Given the description of an element on the screen output the (x, y) to click on. 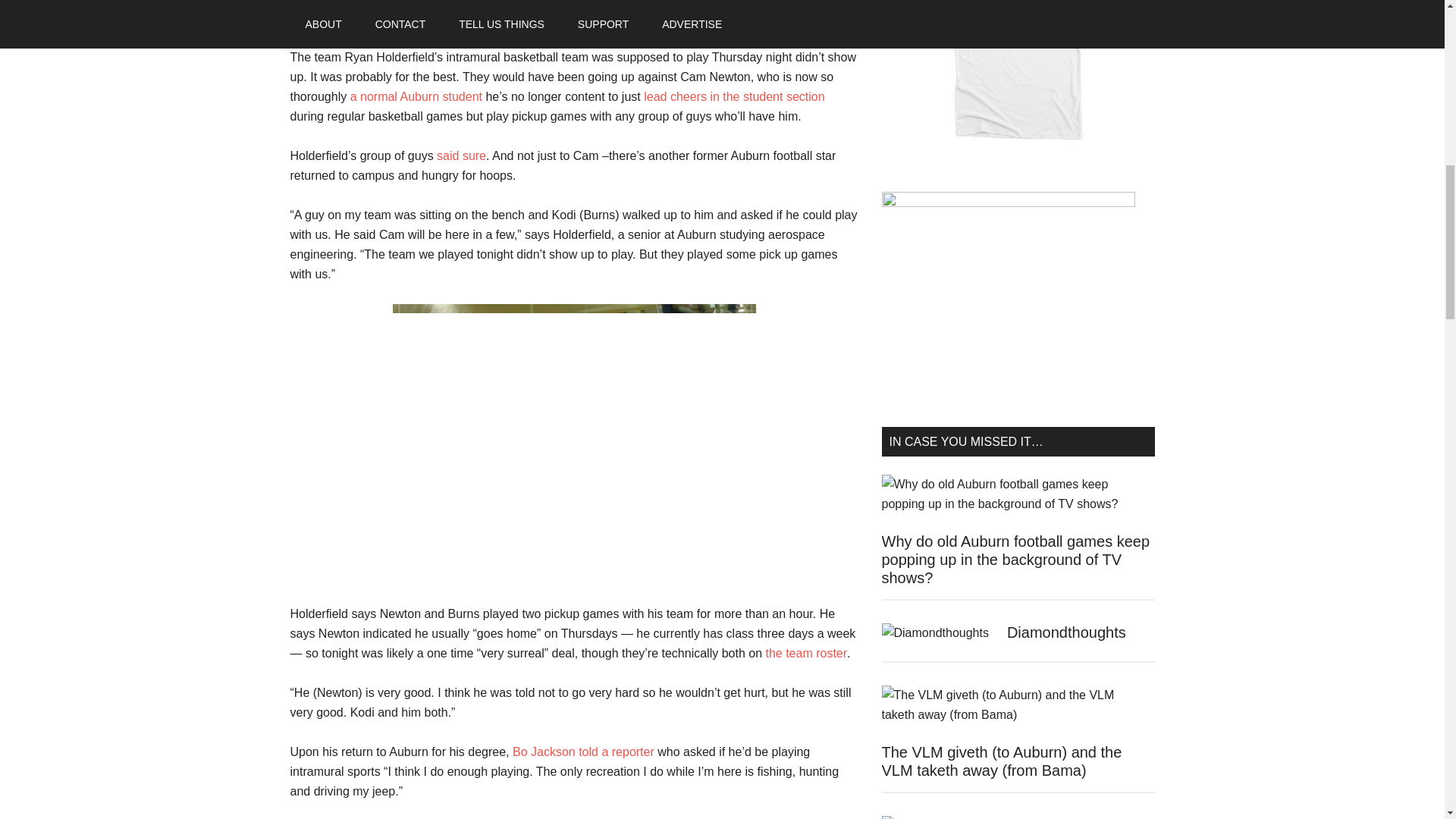
lead cheers in the student section (733, 96)
a normal Auburn student (415, 96)
intracam1 (574, 443)
